Given the description of an element on the screen output the (x, y) to click on. 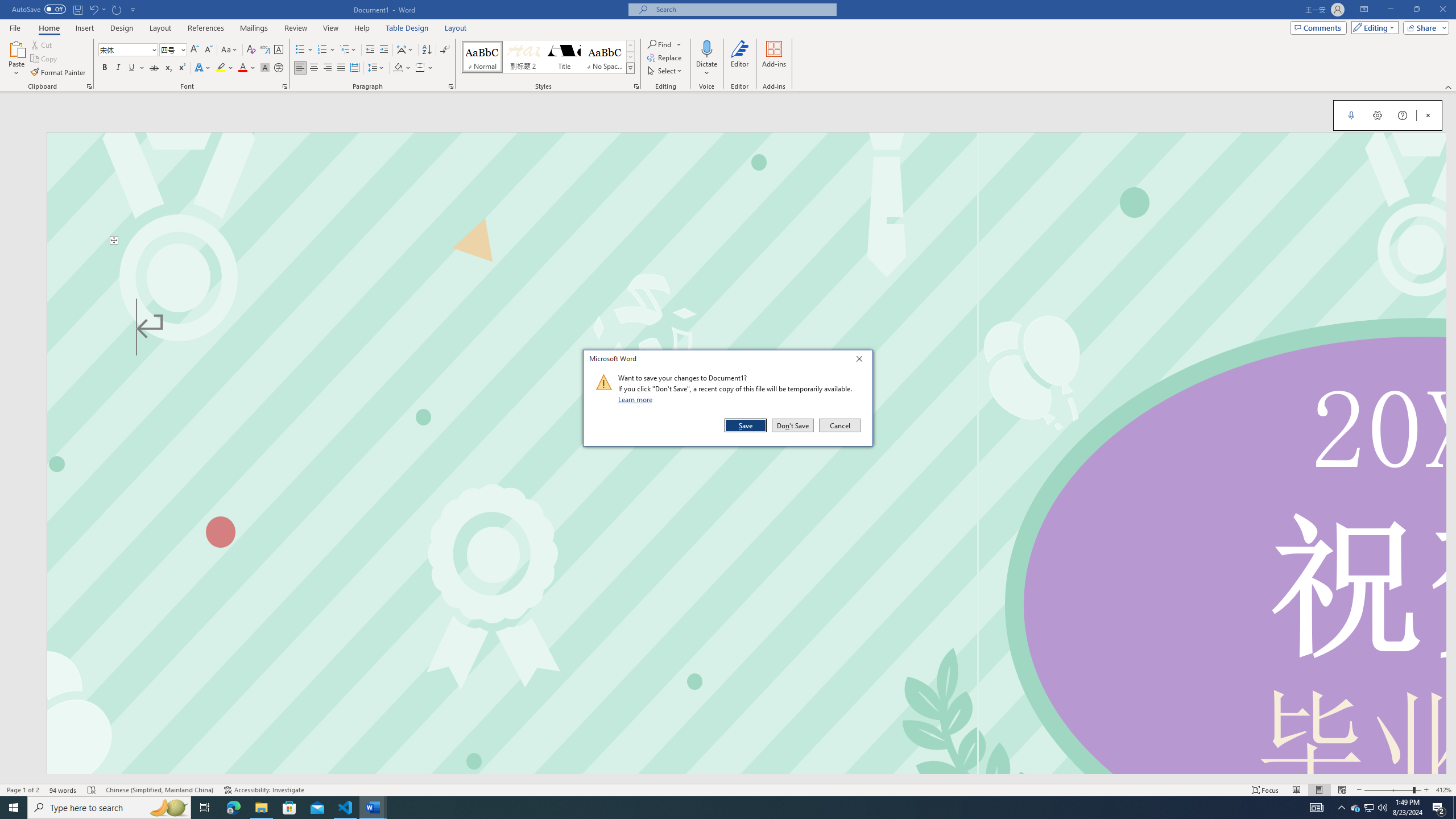
Notification Chevron (1341, 807)
Page Number Page 1 of 2 (22, 790)
Font Color Red (241, 67)
Visual Studio Code - 1 running window (345, 807)
